Given the description of an element on the screen output the (x, y) to click on. 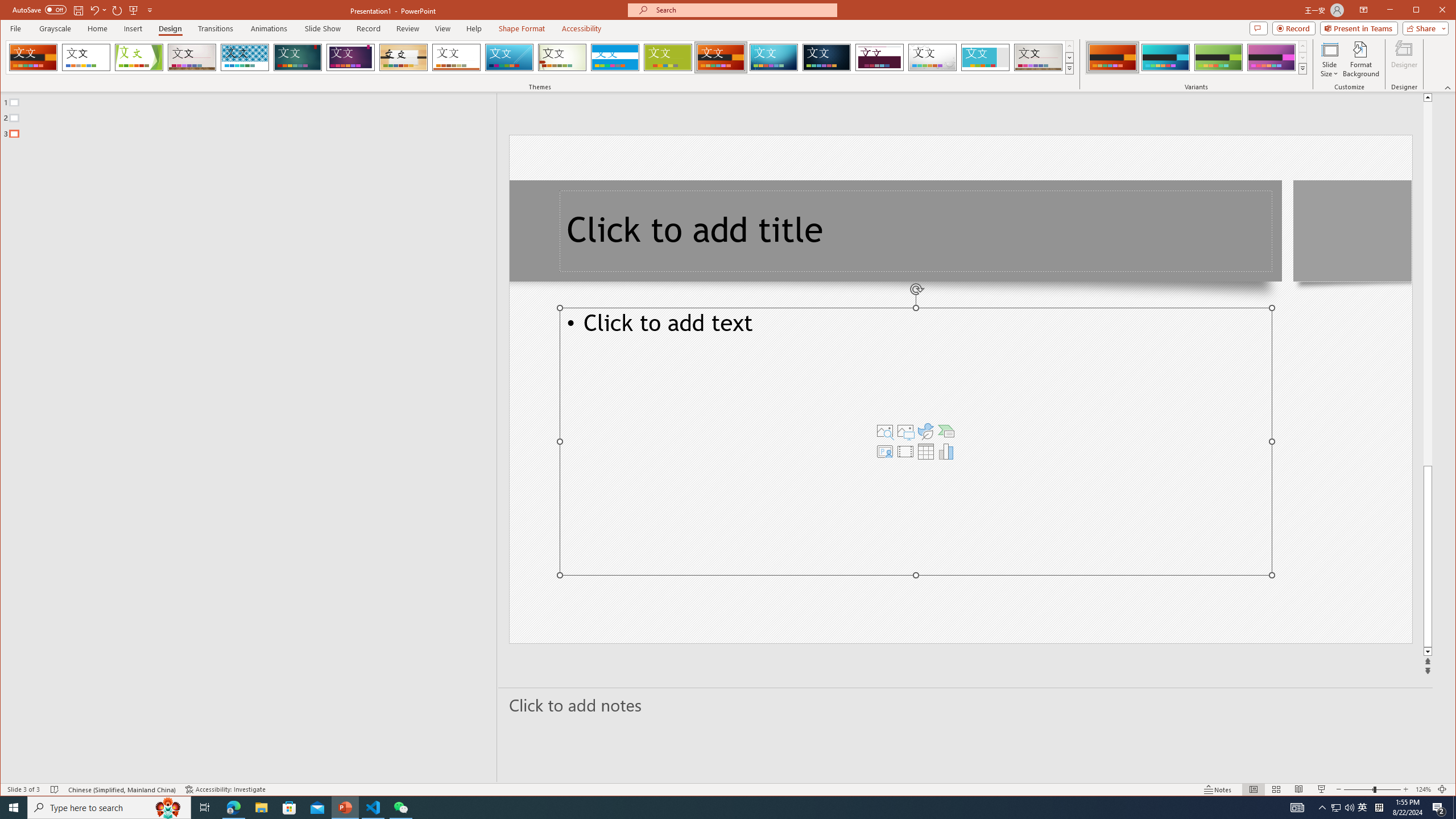
Content Placeholder (915, 440)
Wisp (561, 57)
Insert Cameo (884, 451)
